Given the description of an element on the screen output the (x, y) to click on. 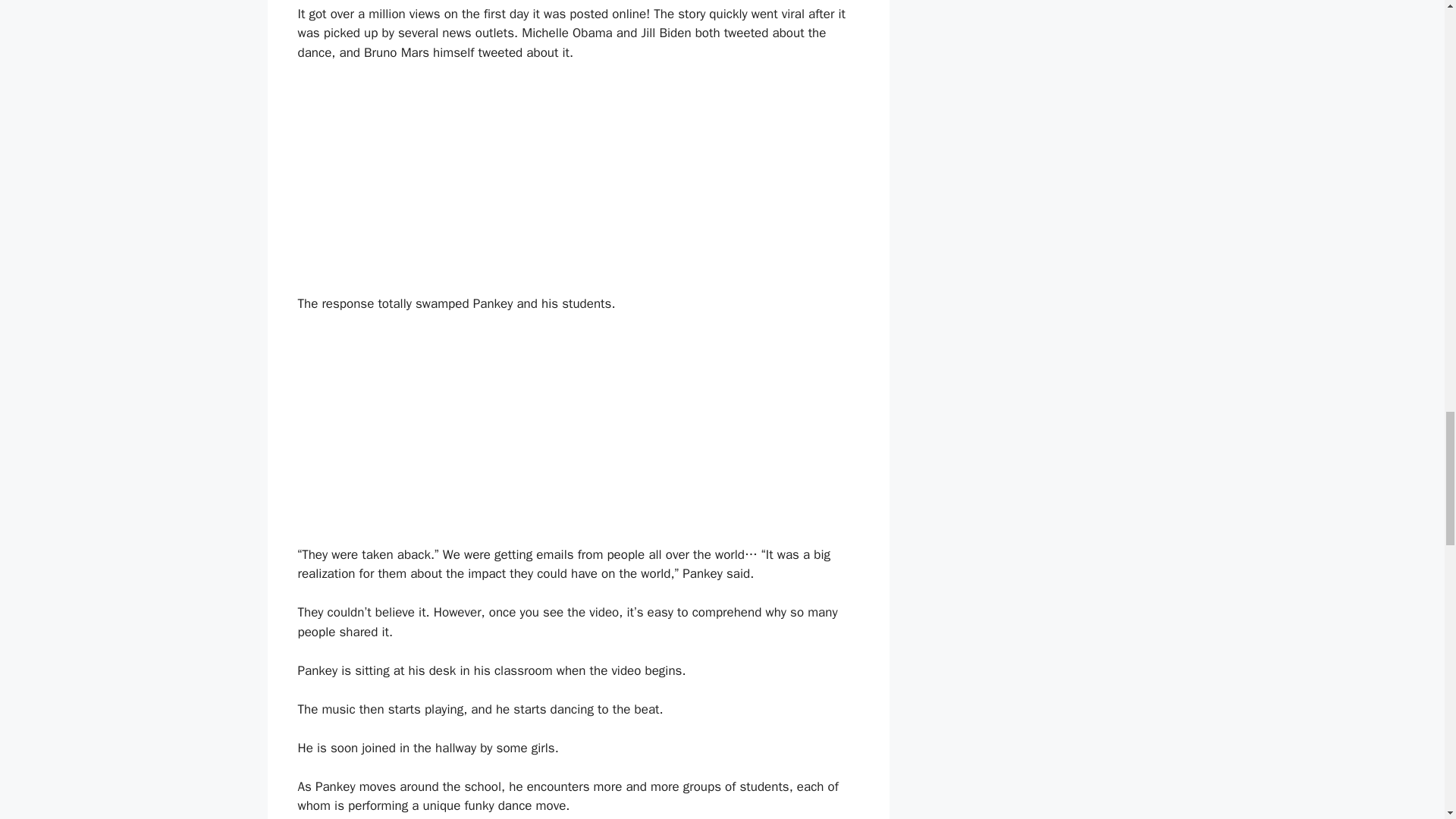
Advertisement (578, 438)
Advertisement (578, 187)
